Given the description of an element on the screen output the (x, y) to click on. 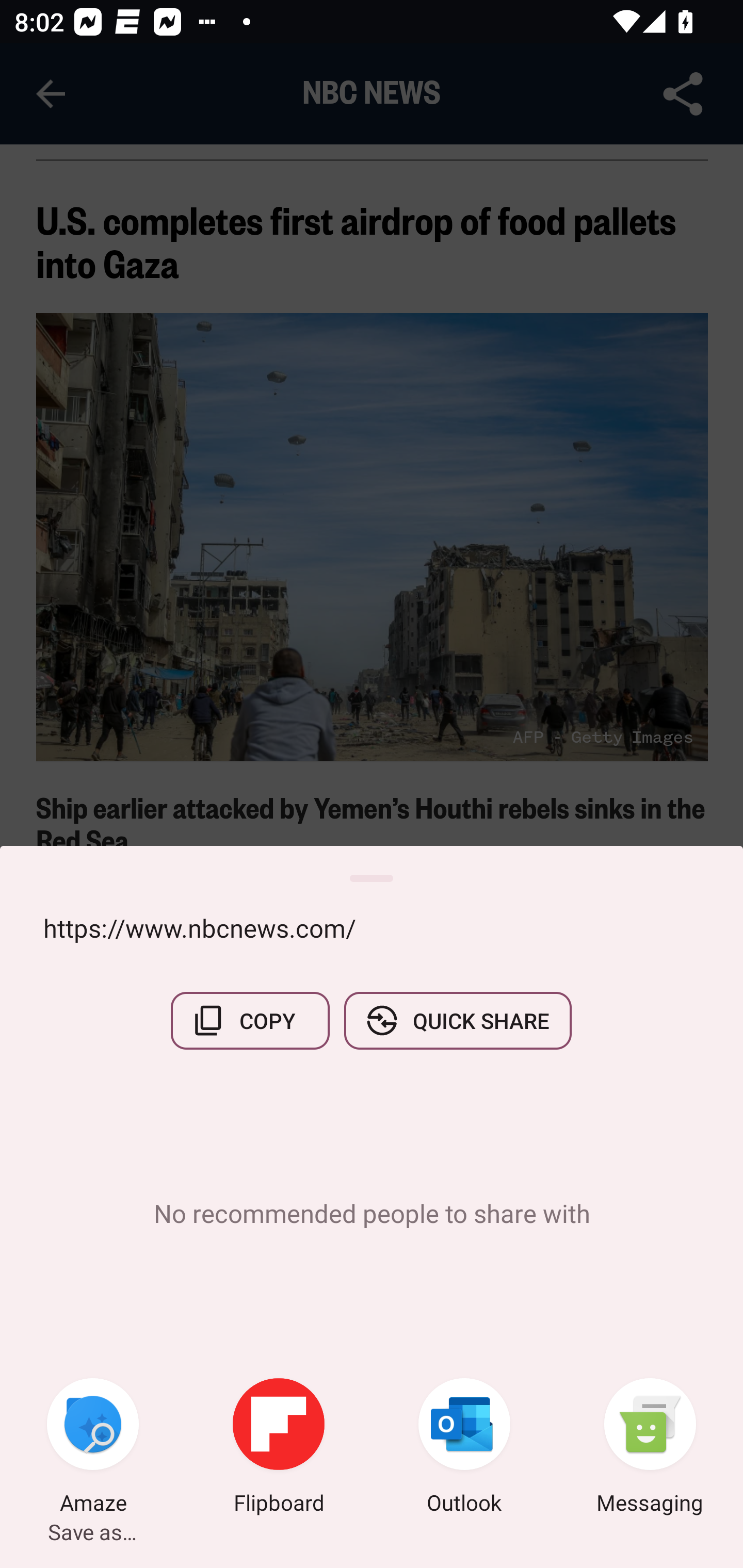
COPY (249, 1020)
QUICK SHARE (457, 1020)
Amaze Save as… (92, 1448)
Flipboard (278, 1448)
Outlook (464, 1448)
Messaging (650, 1448)
